Given the description of an element on the screen output the (x, y) to click on. 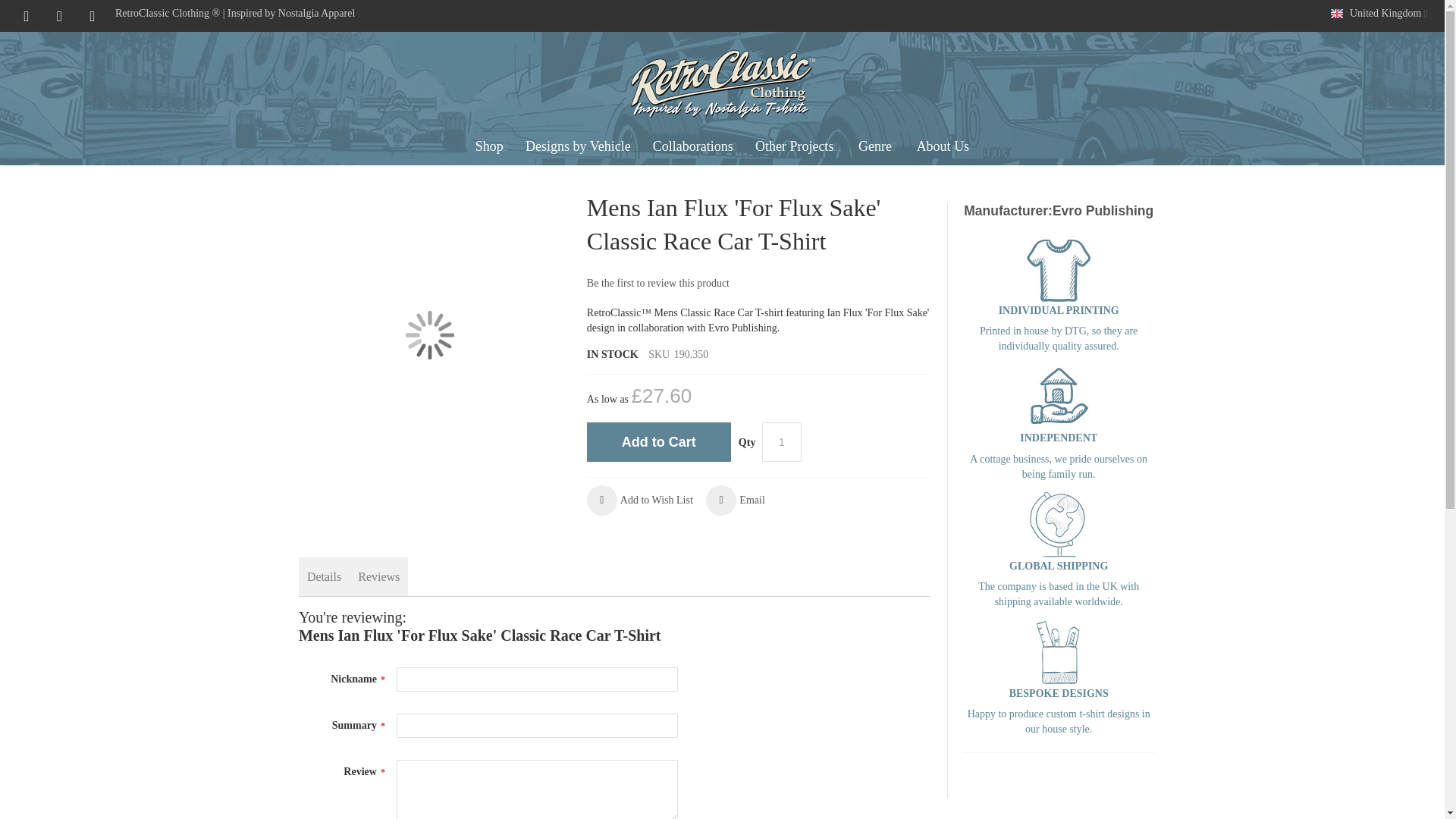
Availability (612, 354)
Designs by Vehicle (579, 146)
Qty (781, 441)
Follow Infortis on Twitter (60, 12)
1 (781, 441)
Language (1377, 13)
About Us (942, 146)
Instagram (28, 12)
Shop (490, 146)
Join us on Facebook (92, 12)
